Given the description of an element on the screen output the (x, y) to click on. 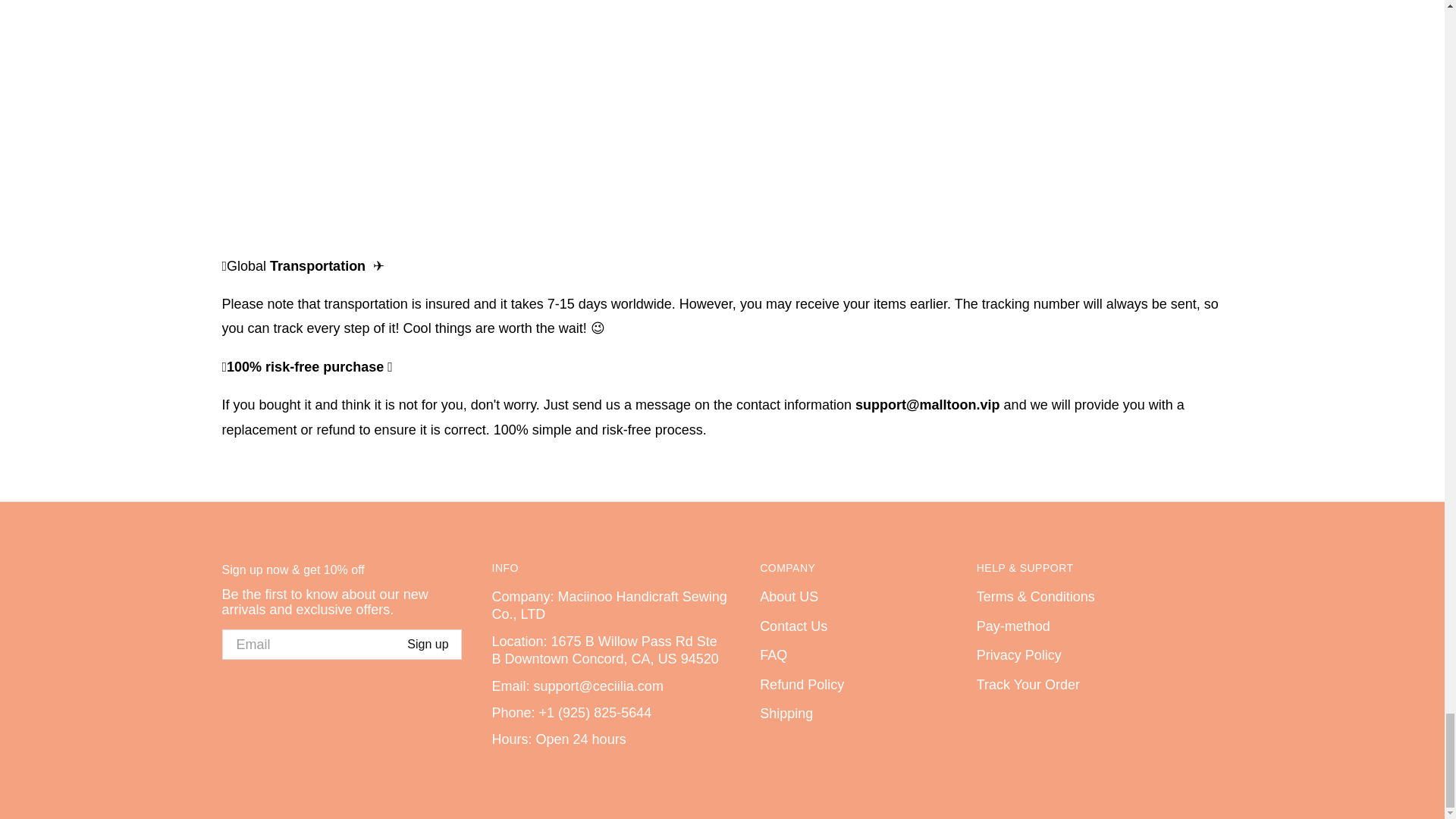
About US (853, 597)
FAQ (853, 655)
Contact Us (853, 625)
